Given the description of an element on the screen output the (x, y) to click on. 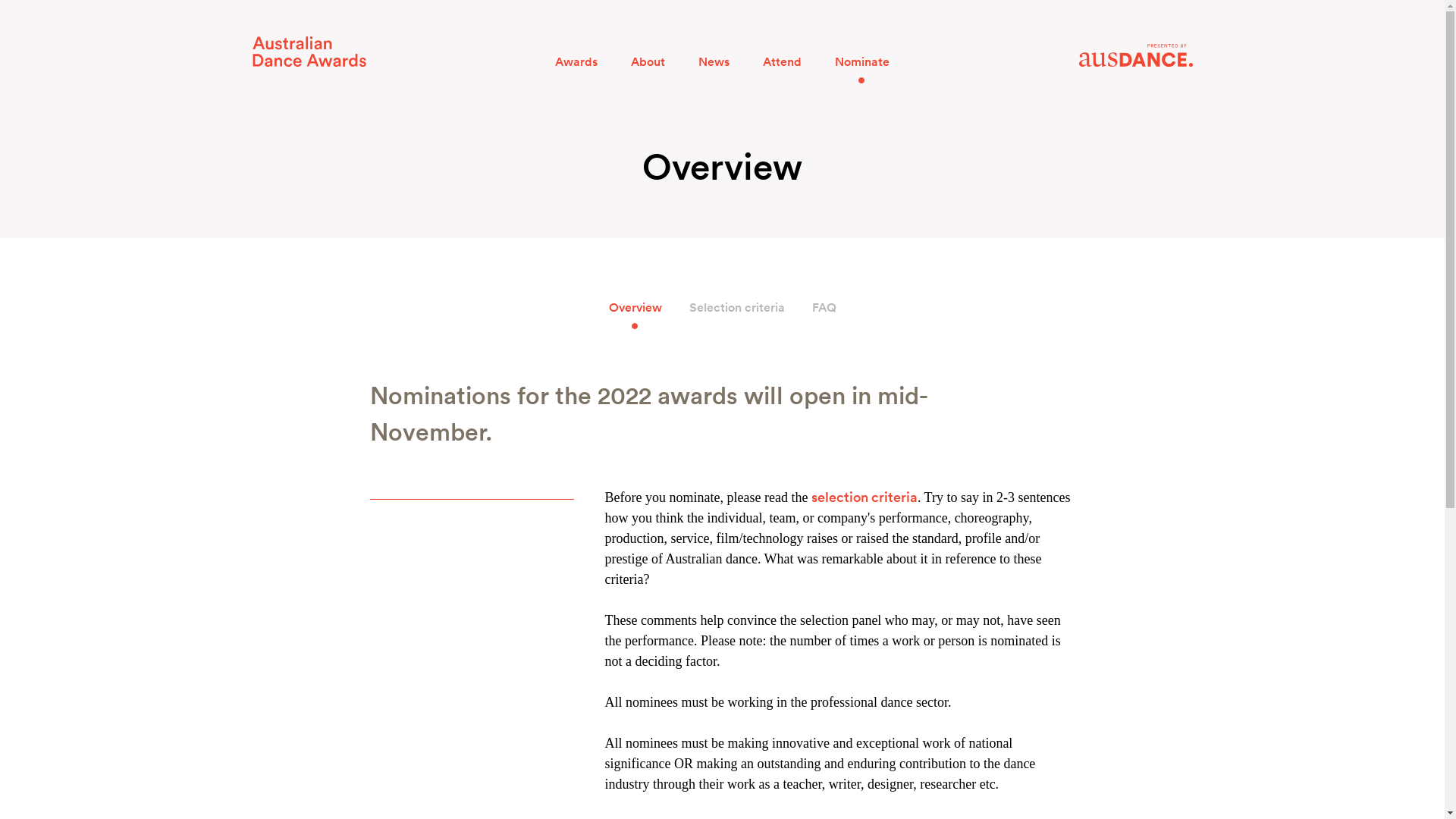
Overview Element type: text (634, 307)
Nominate Element type: text (861, 61)
selection criteria Element type: text (864, 496)
Attend Element type: text (781, 61)
News Element type: text (713, 61)
Selection criteria Element type: text (736, 307)
FAQ Element type: text (823, 307)
About Element type: text (647, 61)
Awards Element type: text (576, 61)
